Given the description of an element on the screen output the (x, y) to click on. 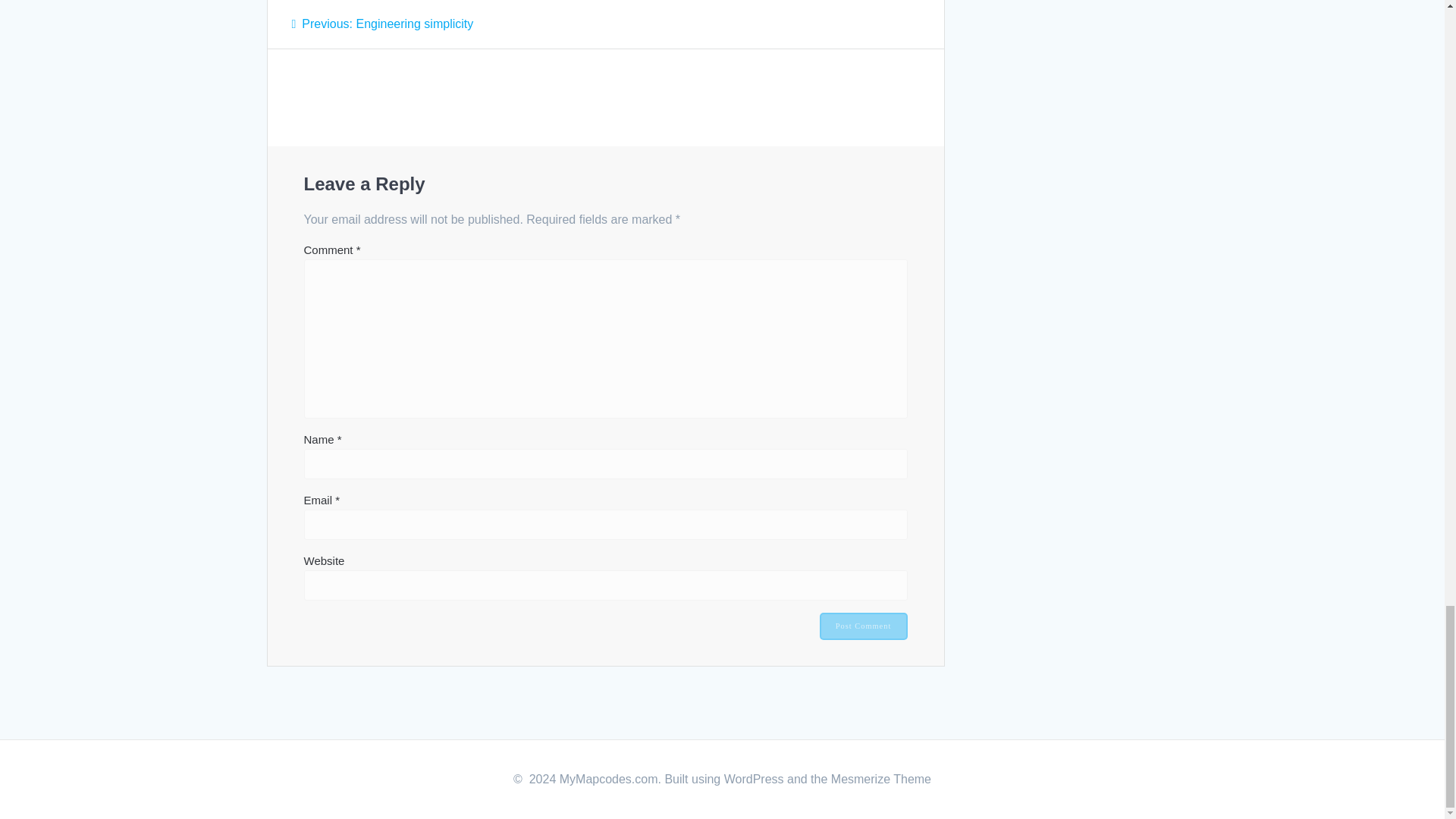
Mesmerize Theme (881, 779)
Post Comment (863, 625)
Post Comment (863, 625)
